Given the description of an element on the screen output the (x, y) to click on. 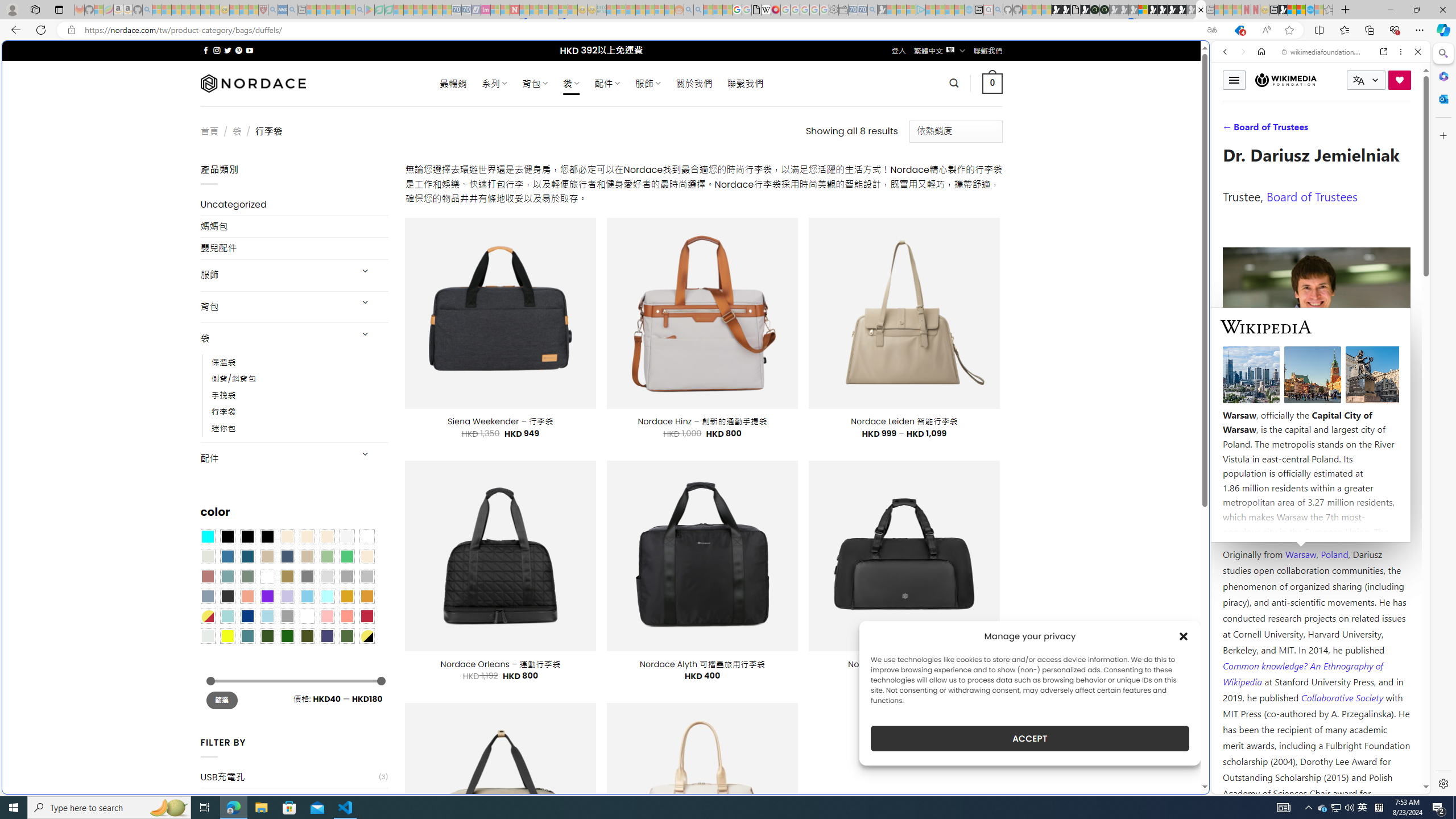
 0  (992, 83)
